Given the description of an element on the screen output the (x, y) to click on. 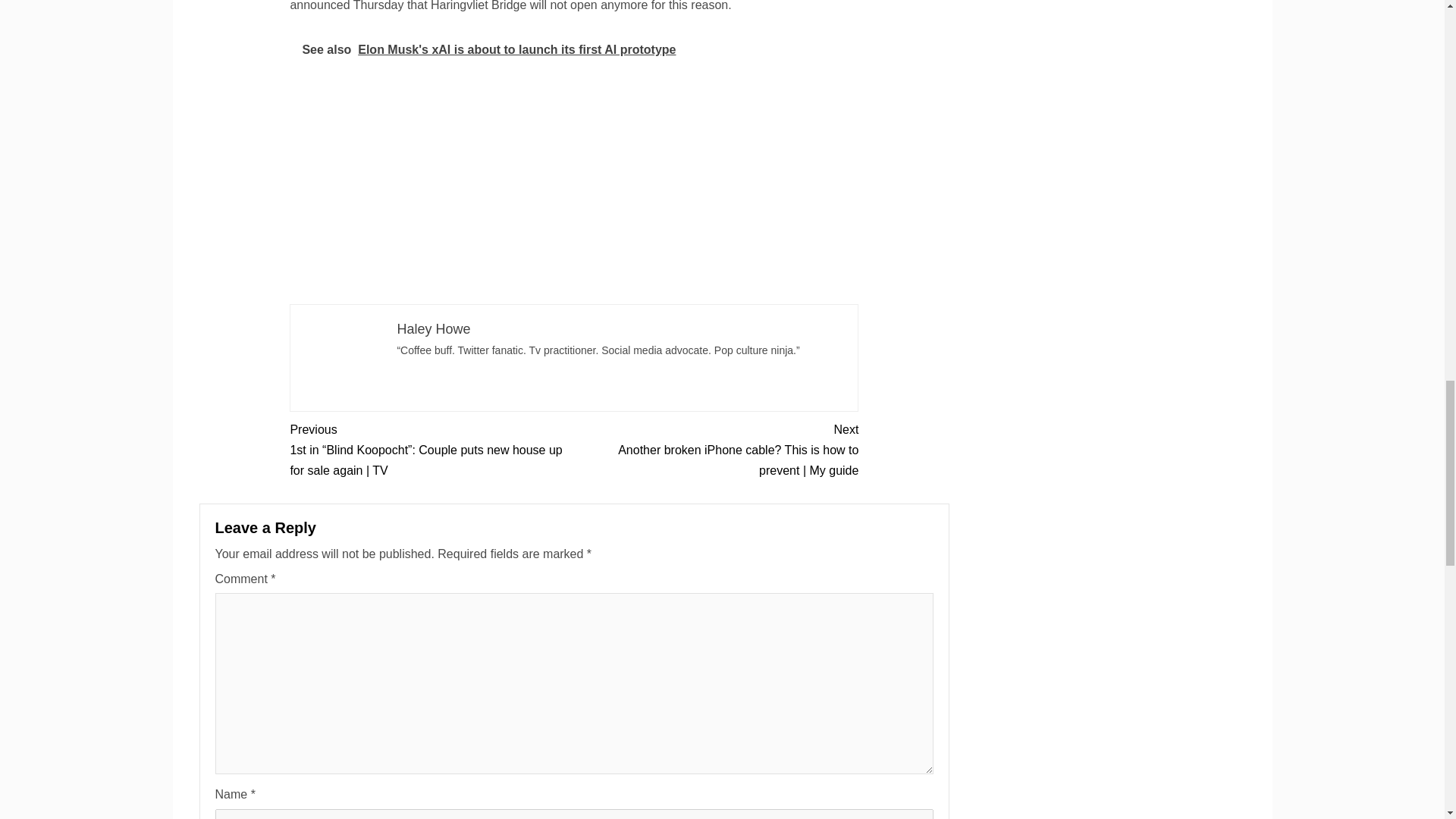
Advertisement (574, 190)
Haley Howe (433, 328)
